Given the description of an element on the screen output the (x, y) to click on. 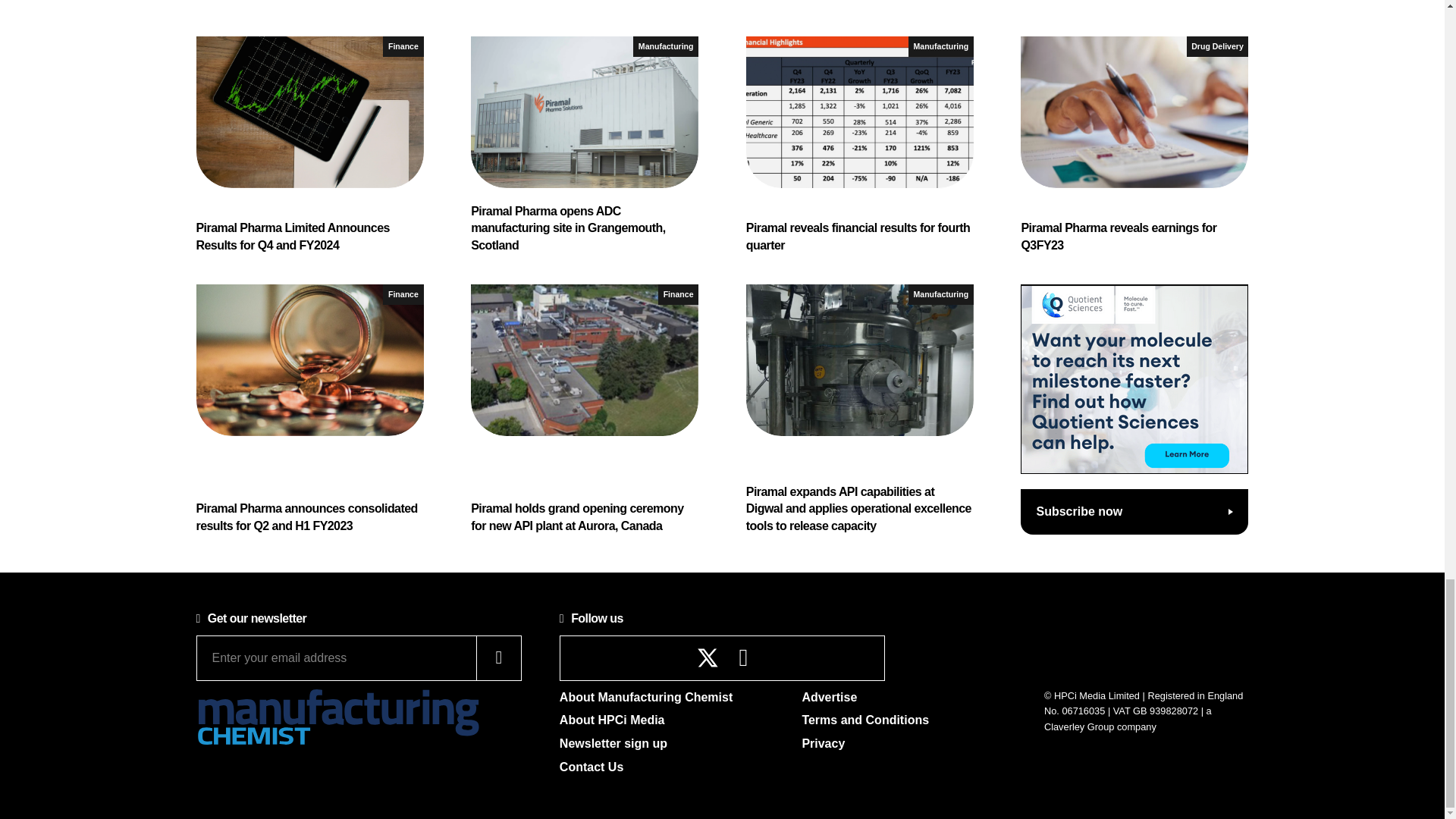
Follow Manufacturing Chemist on X (708, 658)
